Given the description of an element on the screen output the (x, y) to click on. 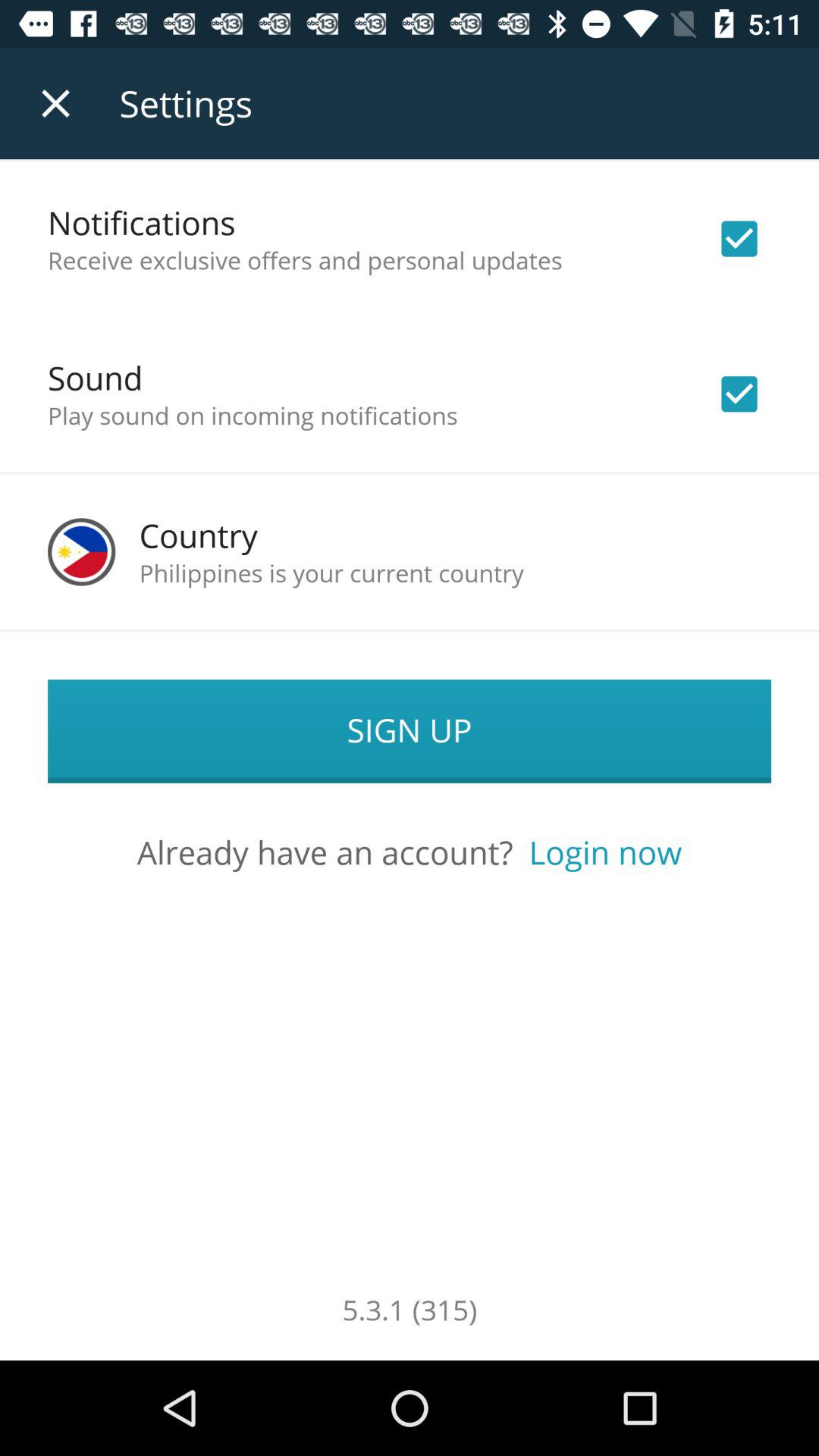
press the icon to the right of already have an icon (604, 851)
